Given the description of an element on the screen output the (x, y) to click on. 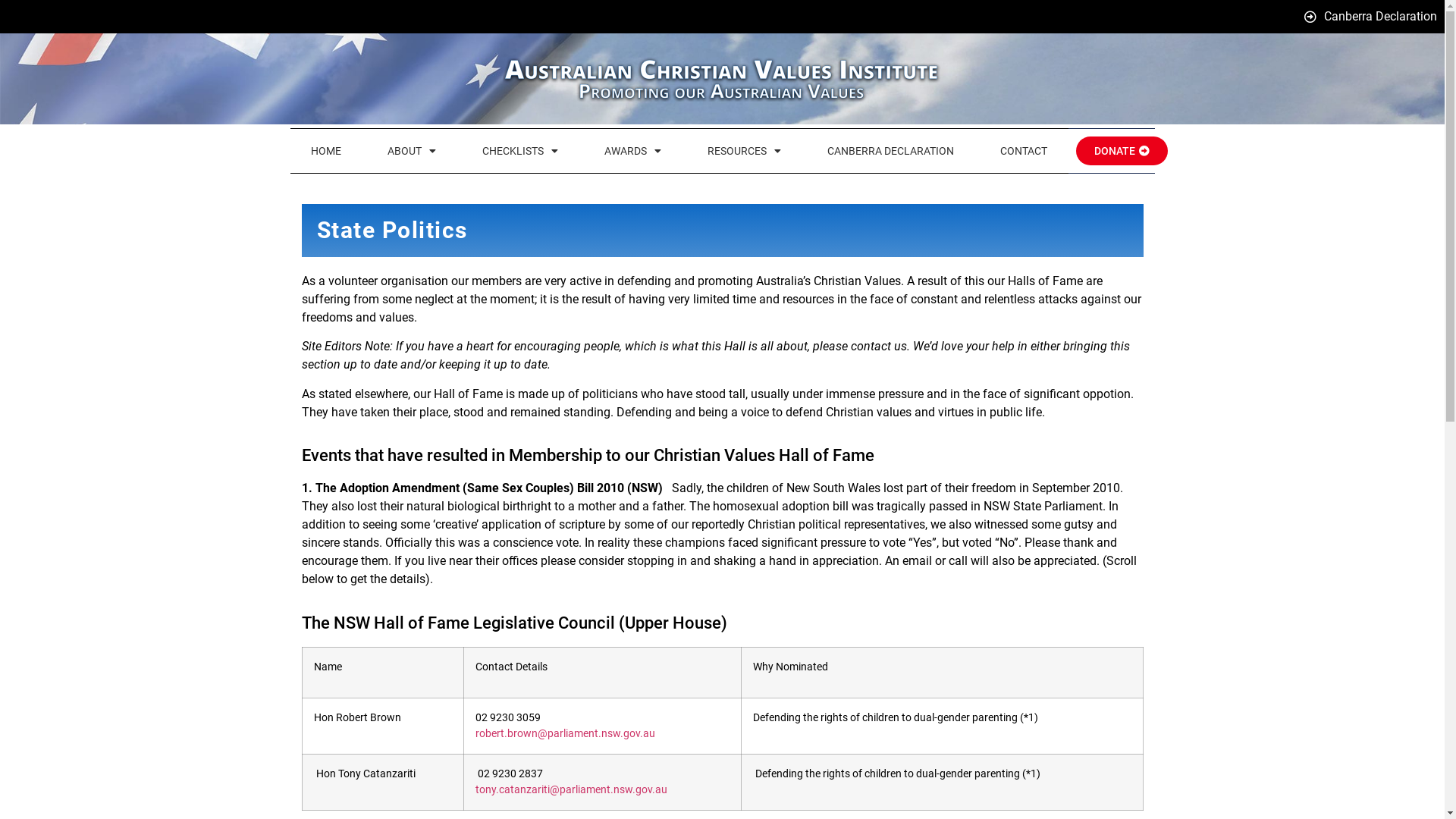
CHECKLISTS Element type: text (520, 150)
ABOUT Element type: text (411, 150)
tony.catanzariti@parliament.nsw.gov.au Element type: text (571, 789)
CANBERRA DECLARATION Element type: text (890, 150)
Canberra Declaration Element type: text (1369, 16)
robert.brown@parliament.nsw.gov.au Element type: text (565, 733)
HOME Element type: text (325, 150)
ACVI-Logo-white Element type: hover (721, 78)
RESOURCES Element type: text (744, 150)
AWARDS Element type: text (632, 150)
DONATE Element type: text (1121, 150)
CONTACT Element type: text (1023, 150)
